Given the description of an element on the screen output the (x, y) to click on. 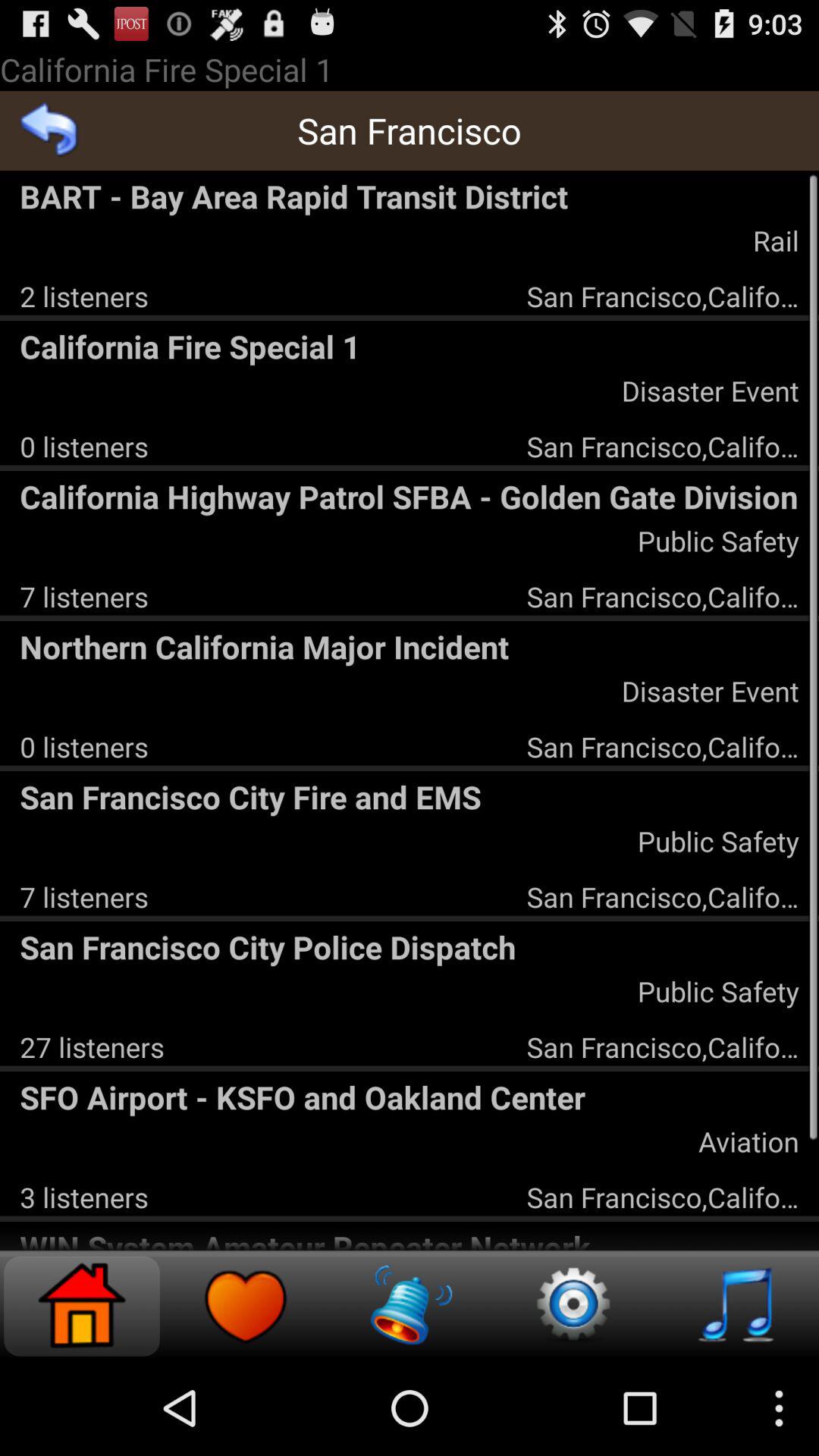
turn off the app above disaster event item (409, 646)
